Given the description of an element on the screen output the (x, y) to click on. 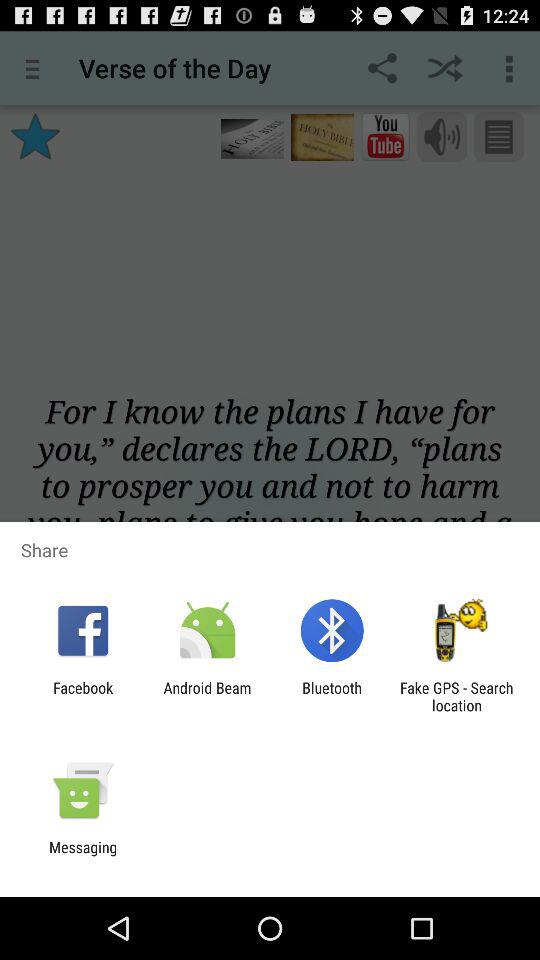
press the app next to the android beam app (331, 696)
